Given the description of an element on the screen output the (x, y) to click on. 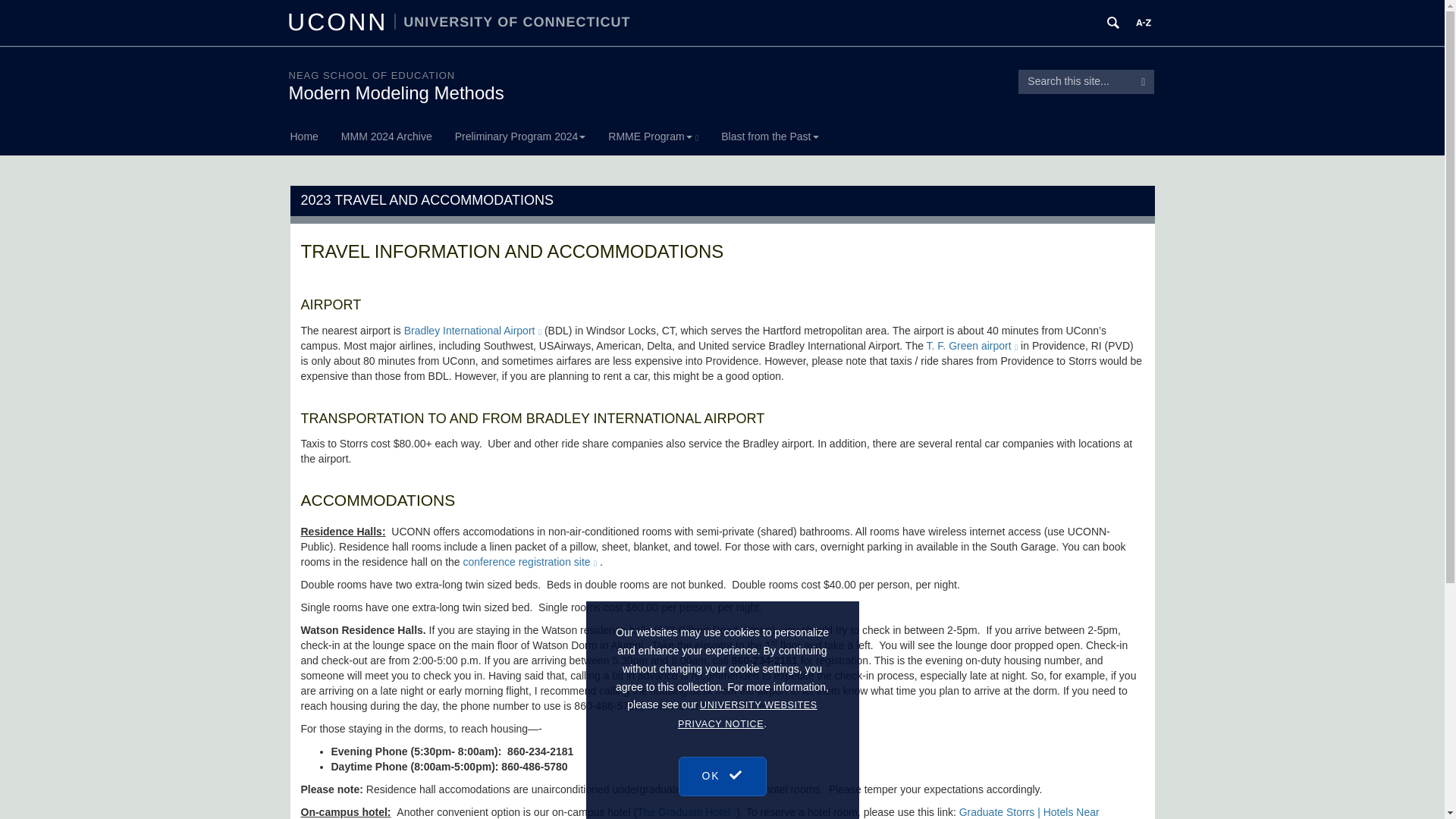
UNIVERSITY OF CONNECTICUT (512, 21)
Search (1143, 81)
UCONN (340, 21)
Search UConn (1112, 22)
Preliminary Program 2024 (520, 136)
Home (309, 136)
Search this site...  (1074, 81)
RMME Program (653, 136)
Modern Modeling Methods (395, 92)
